Given the description of an element on the screen output the (x, y) to click on. 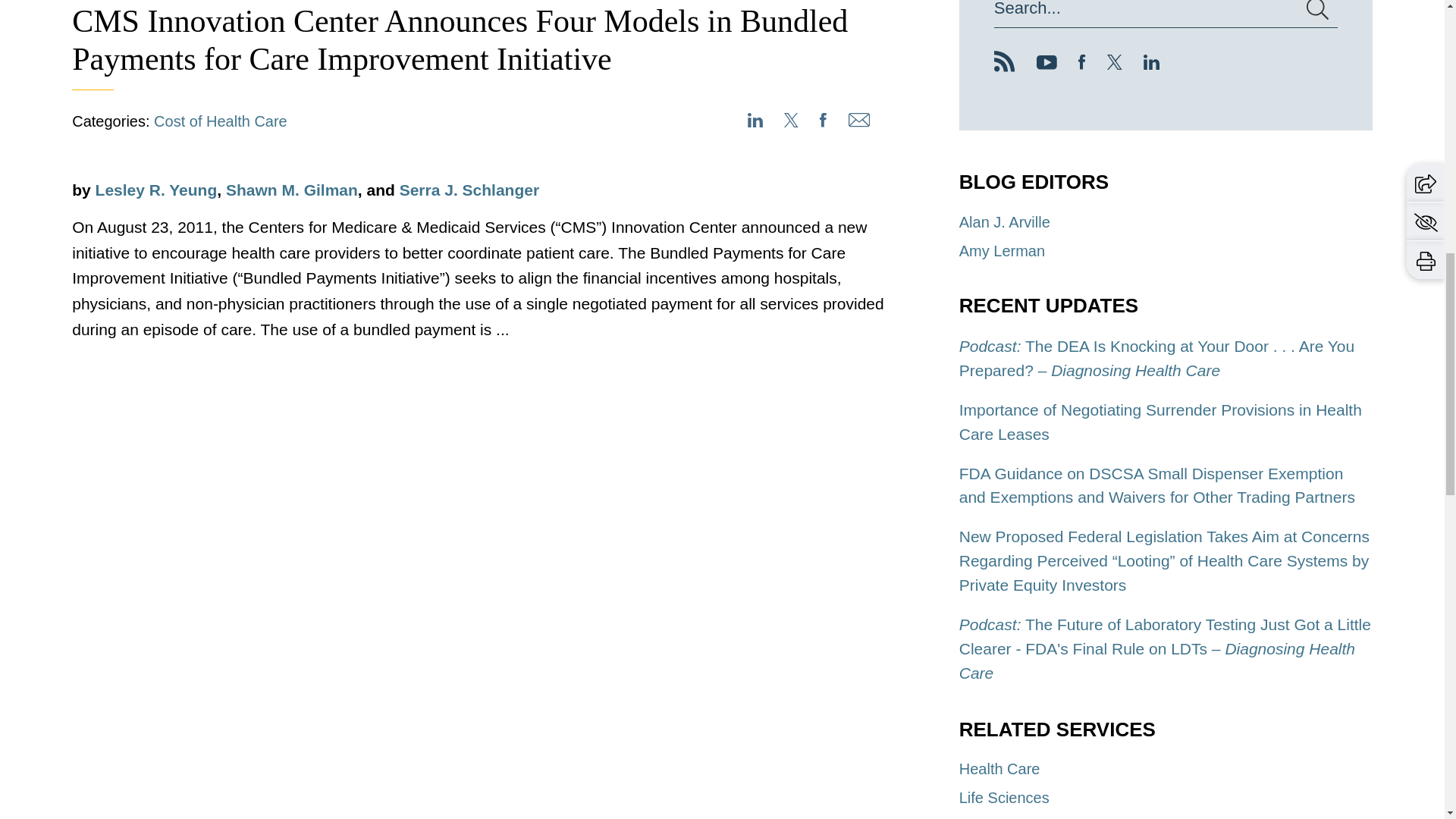
Alan J. Arville (1004, 221)
Twitter (1114, 64)
RSS (1004, 66)
Amy Lerman (1002, 250)
Linkedin (1150, 64)
Lesley R. Yeung (156, 189)
Shawn M. Gilman (291, 189)
Youtube (1046, 64)
Linkedin (1150, 61)
Twitter (1114, 64)
RSS (1004, 61)
Linkedin (1150, 64)
Serra J. Schlanger (468, 189)
Twitter (1114, 61)
